Given the description of an element on the screen output the (x, y) to click on. 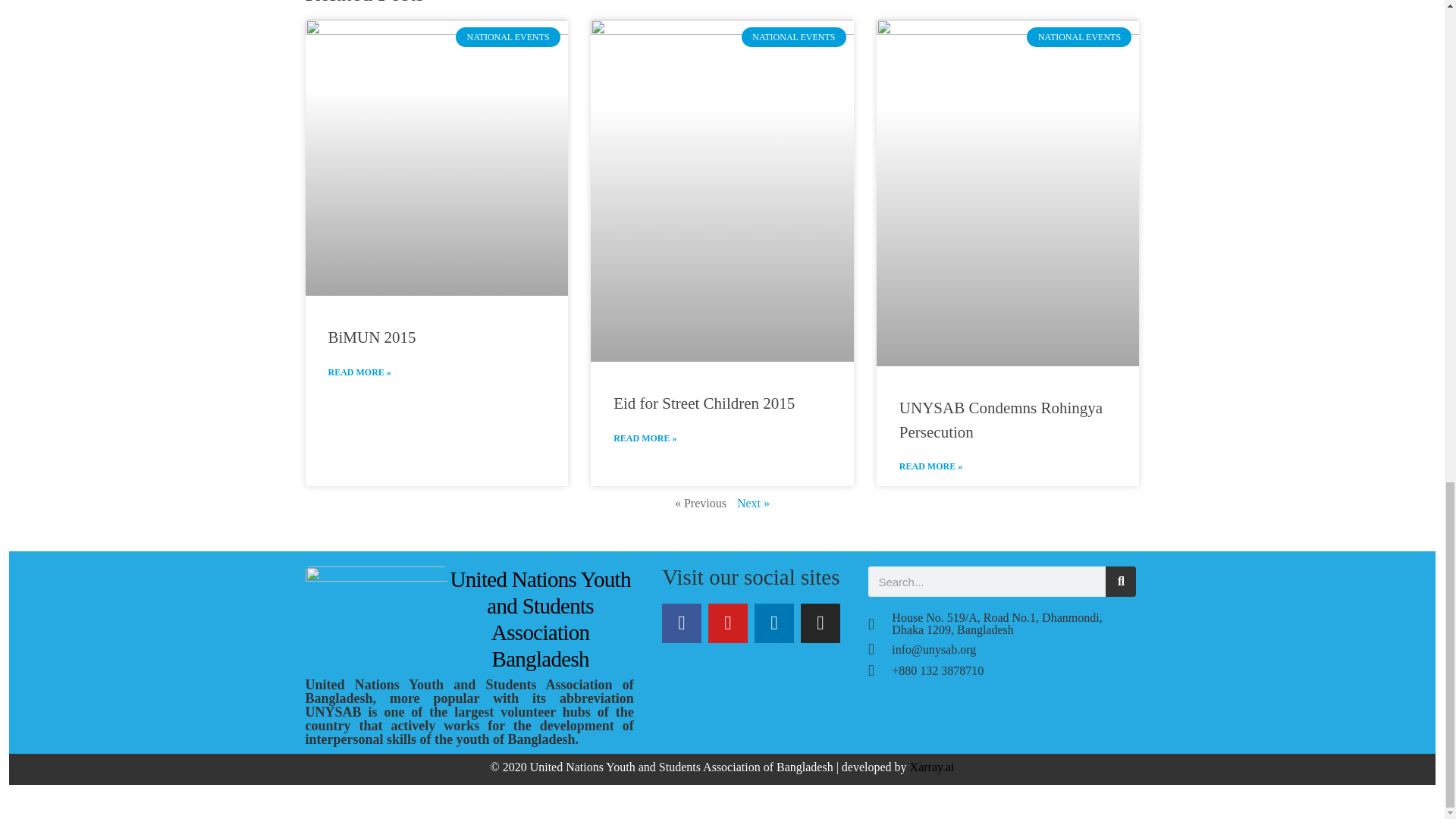
UNYSAB Condemns Rohingya Persecution (1000, 419)
Eid for Street Children 2015 (703, 402)
United Nations Youth and Students Association Bangladesh (539, 618)
BiMUN 2015 (370, 337)
